Given the description of an element on the screen output the (x, y) to click on. 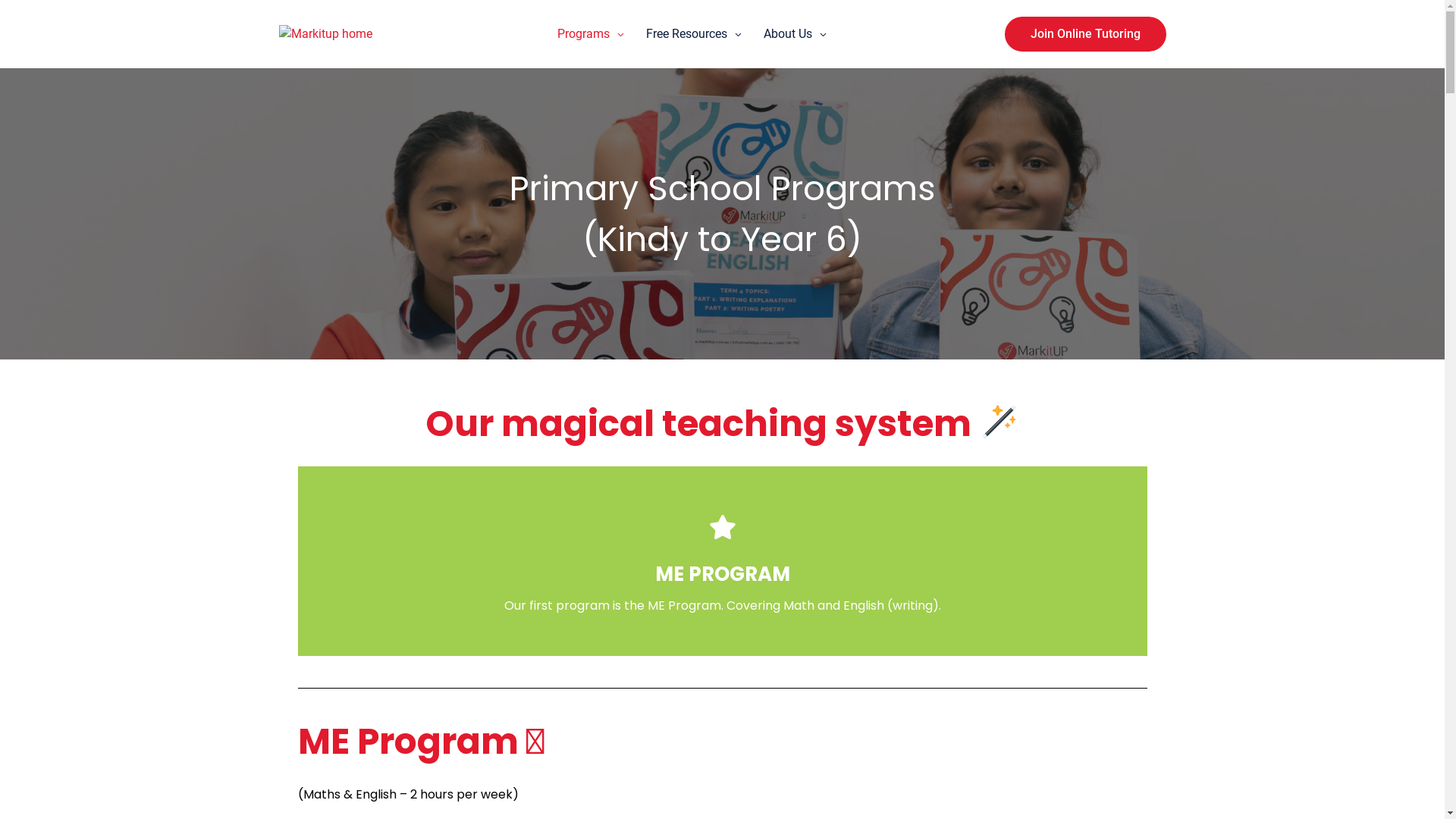
Join Online Tutoring Element type: text (1084, 33)
Programs Element type: text (582, 34)
About Us Element type: text (787, 34)
Free Resources Element type: text (686, 34)
